Given the description of an element on the screen output the (x, y) to click on. 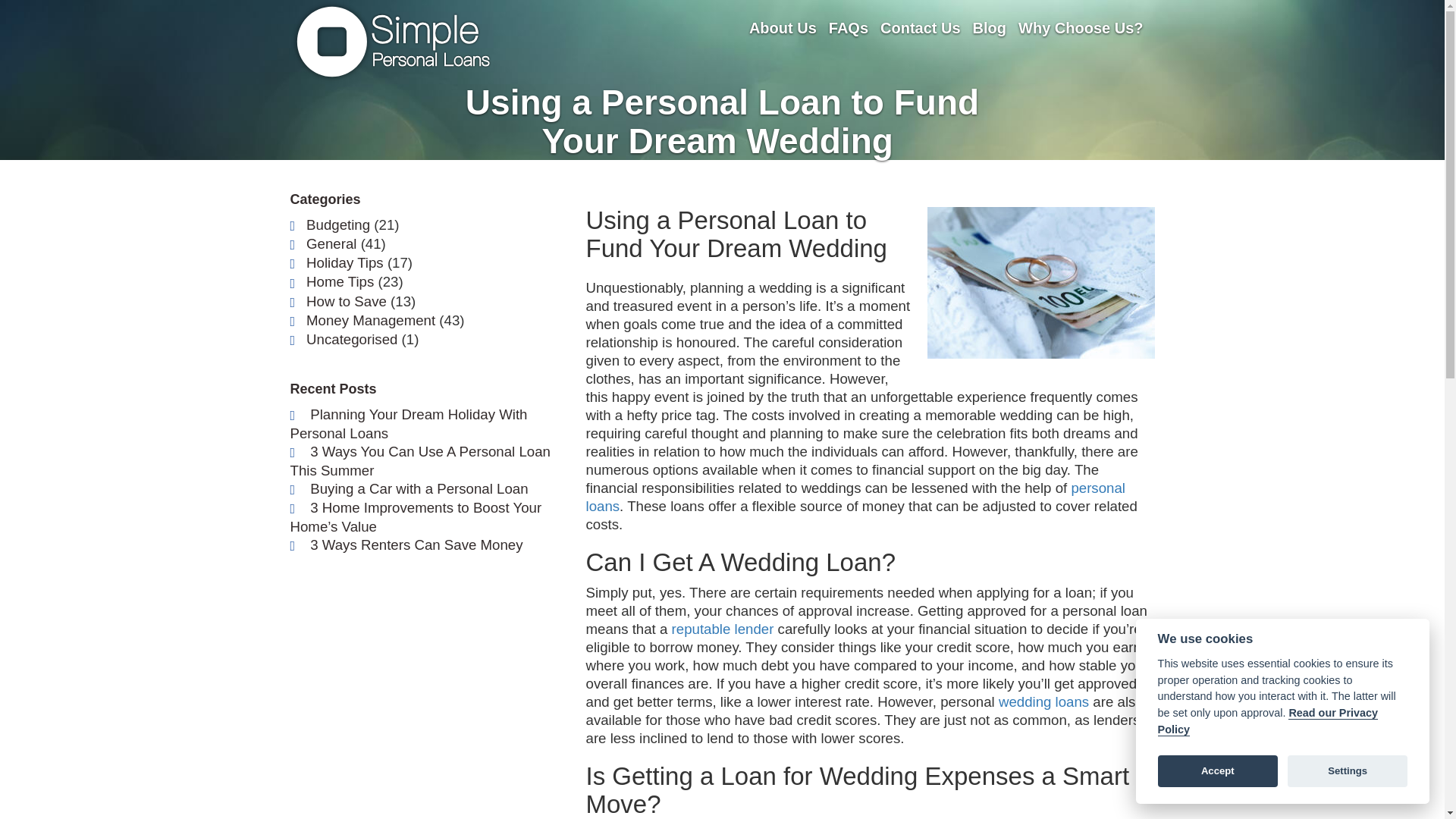
Read our Privacy Policy (1267, 721)
Why Choose Us? (1079, 27)
Budgeting (337, 224)
3 Ways Renters Can Save Money (416, 544)
About Us (782, 27)
reputable lender (722, 628)
Blog (989, 27)
Accept (1217, 771)
3 Ways You Can Use A Personal Loan This Summer (419, 460)
Money Management (370, 320)
Uncategorised (351, 339)
personal loans (854, 496)
Planning Your Dream Holiday With Personal Loans (408, 423)
Home Tips (339, 281)
How to Save (346, 300)
